Given the description of an element on the screen output the (x, y) to click on. 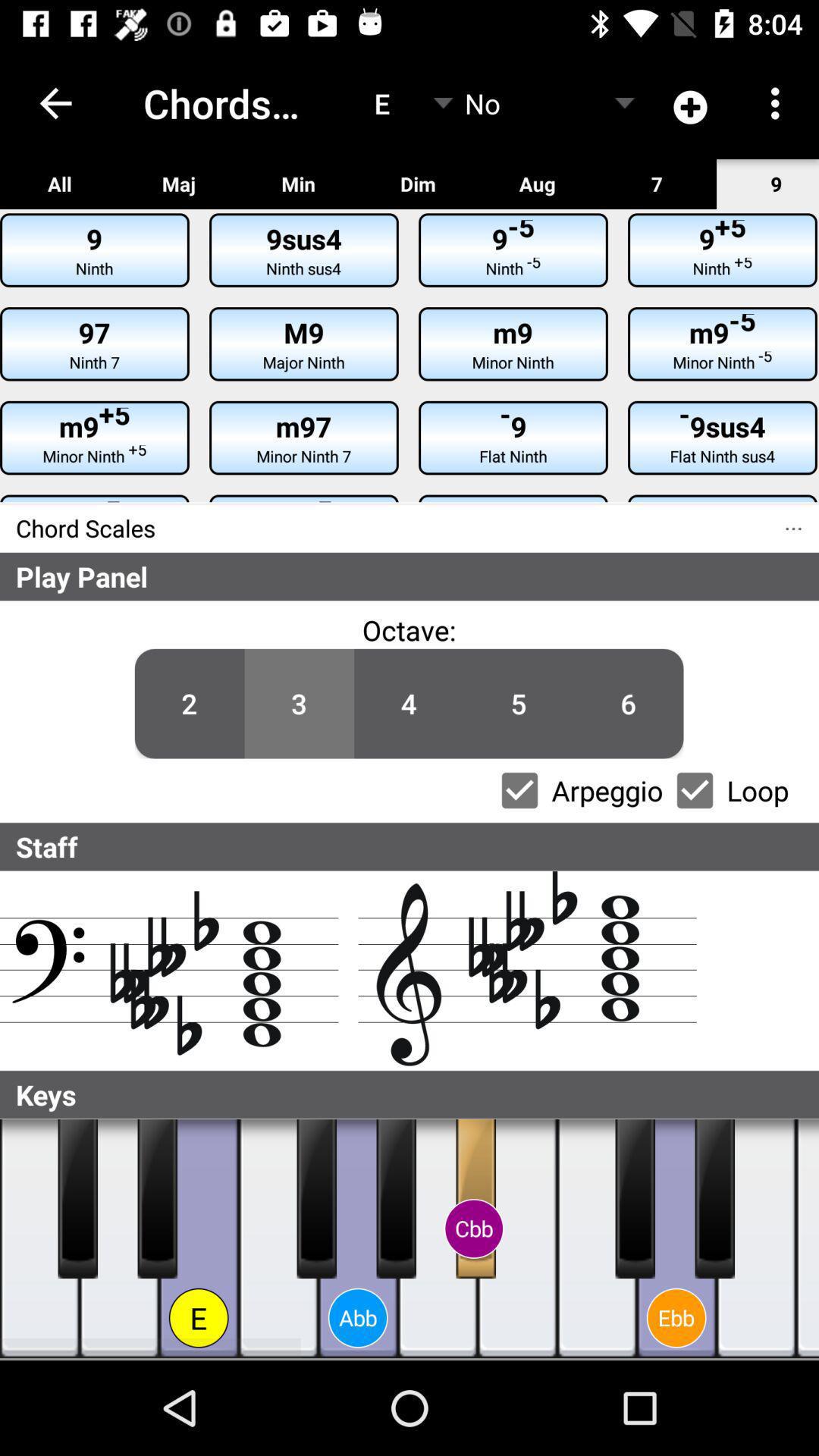
click the 4 icon (409, 703)
